Given the description of an element on the screen output the (x, y) to click on. 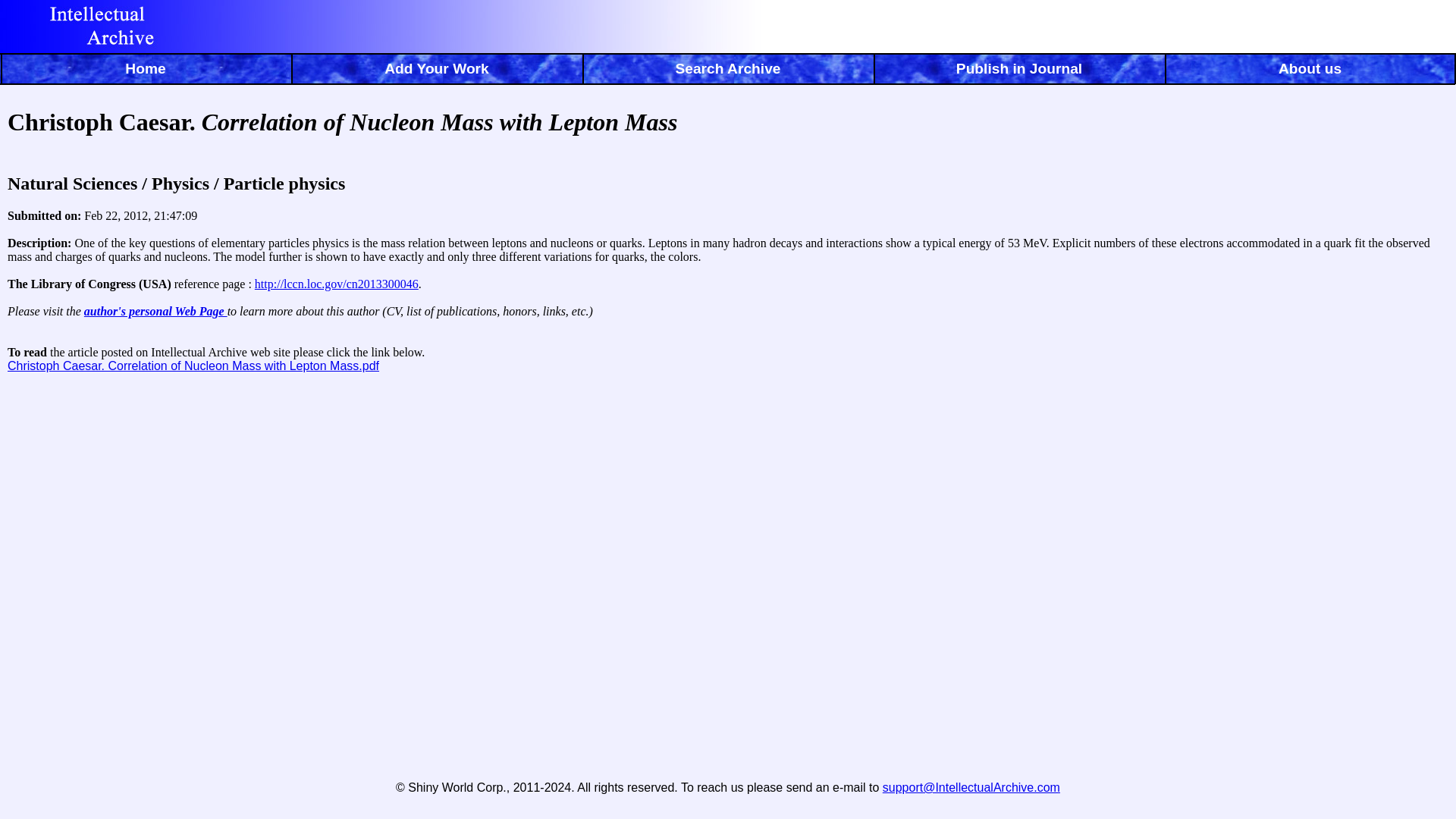
Add Your Work (436, 71)
About us (1309, 71)
Publish in Journal (1018, 71)
Search Archive (727, 71)
author's personal Web Page (155, 310)
Home (145, 71)
